Given the description of an element on the screen output the (x, y) to click on. 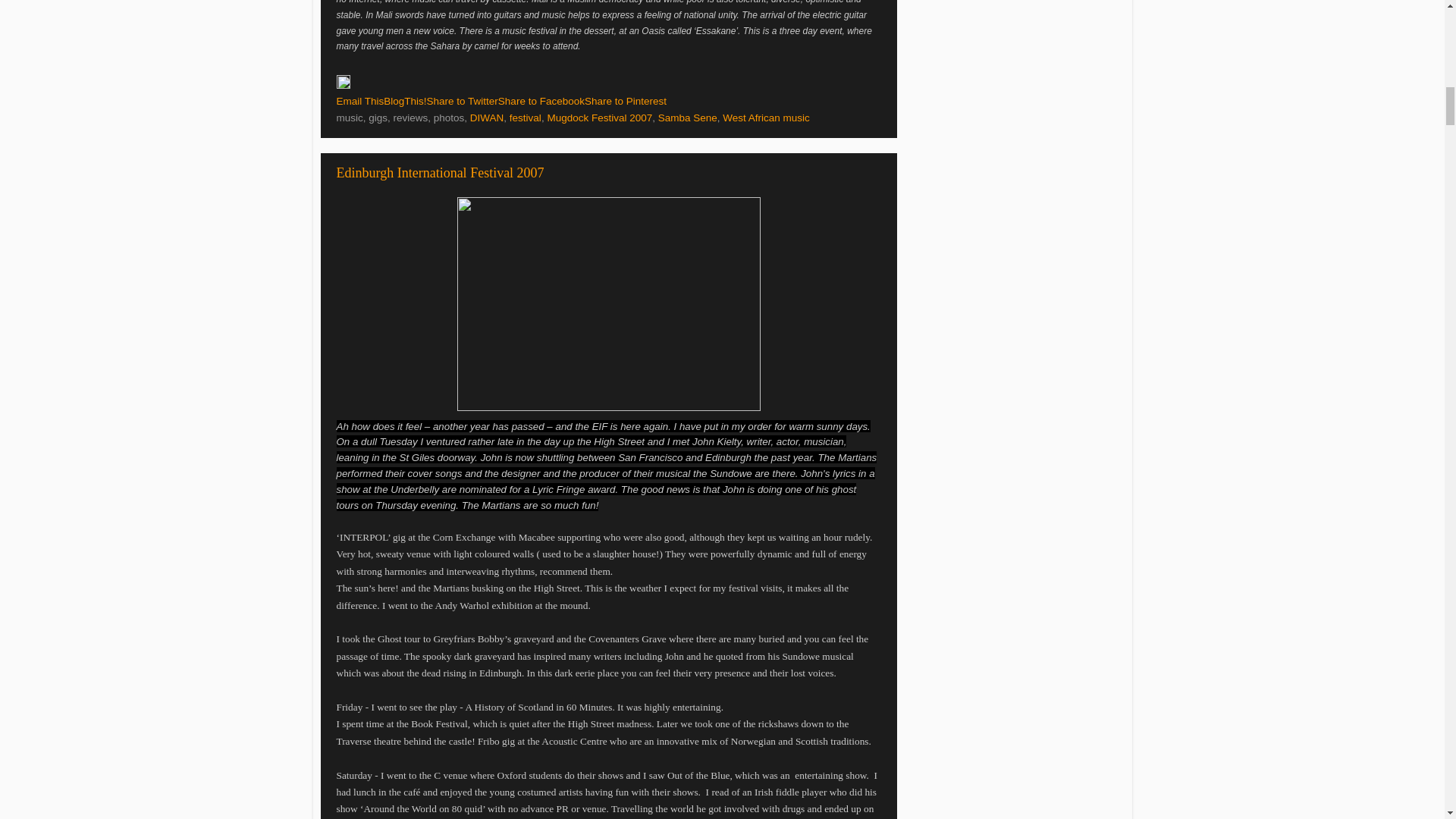
Mugdock Festival 2007 (599, 117)
Edit Post (343, 84)
Email This (360, 101)
BlogThis! (405, 101)
Share to Facebook (541, 101)
BlogThis! (405, 101)
DIWAN (486, 117)
Share to Twitter (461, 101)
Share to Pinterest (625, 101)
Share to Facebook (541, 101)
Edinburgh International Festival 2007 (440, 172)
festival (525, 117)
West African music (765, 117)
Share to Pinterest (625, 101)
Samba Sene (687, 117)
